Given the description of an element on the screen output the (x, y) to click on. 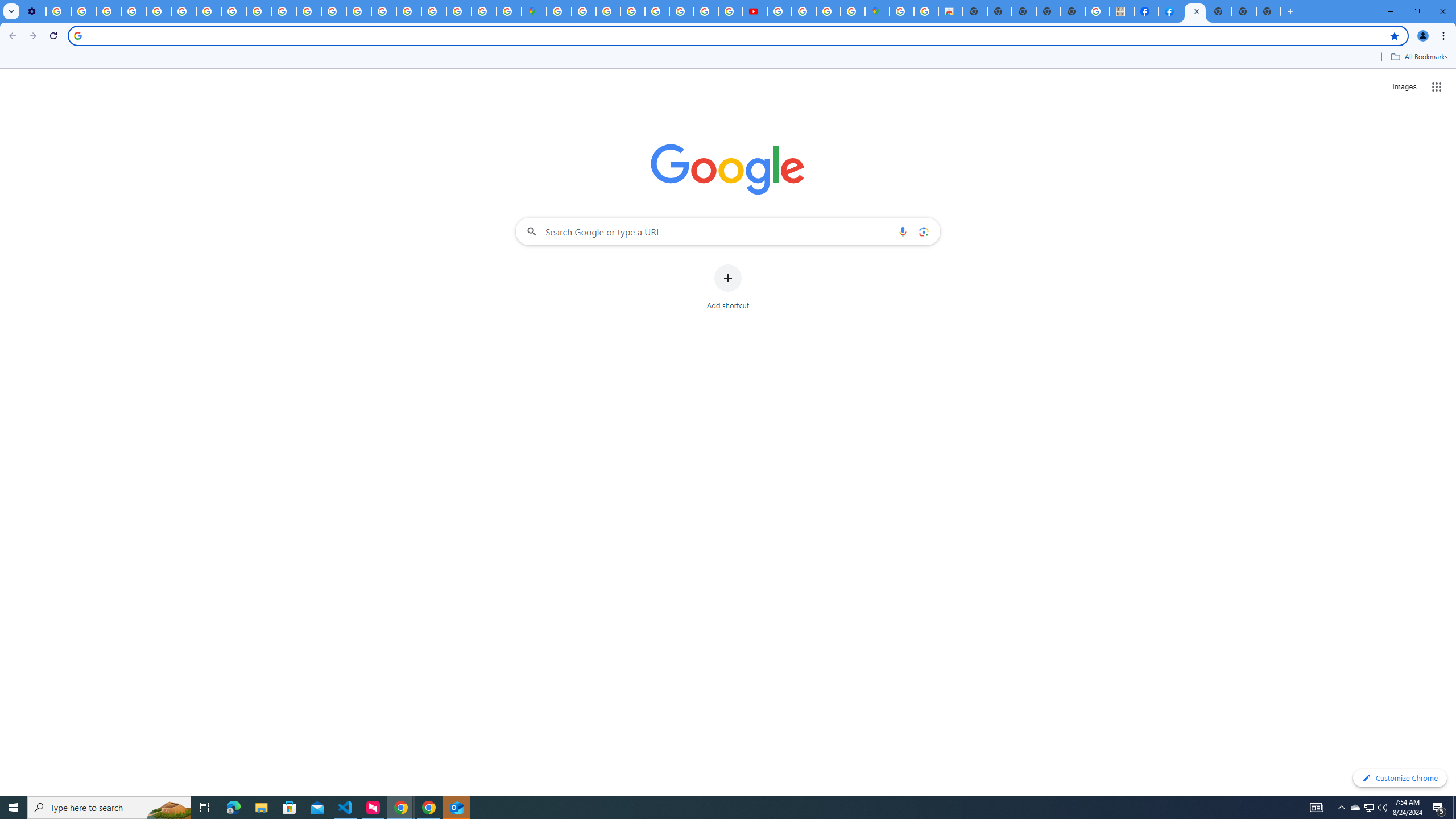
MILEY CYRUS. (1121, 11)
Privacy Checkup (258, 11)
Privacy Help Center - Policies Help (680, 11)
https://scholar.google.com/ (308, 11)
Subscriptions - YouTube (754, 11)
